Given the description of an element on the screen output the (x, y) to click on. 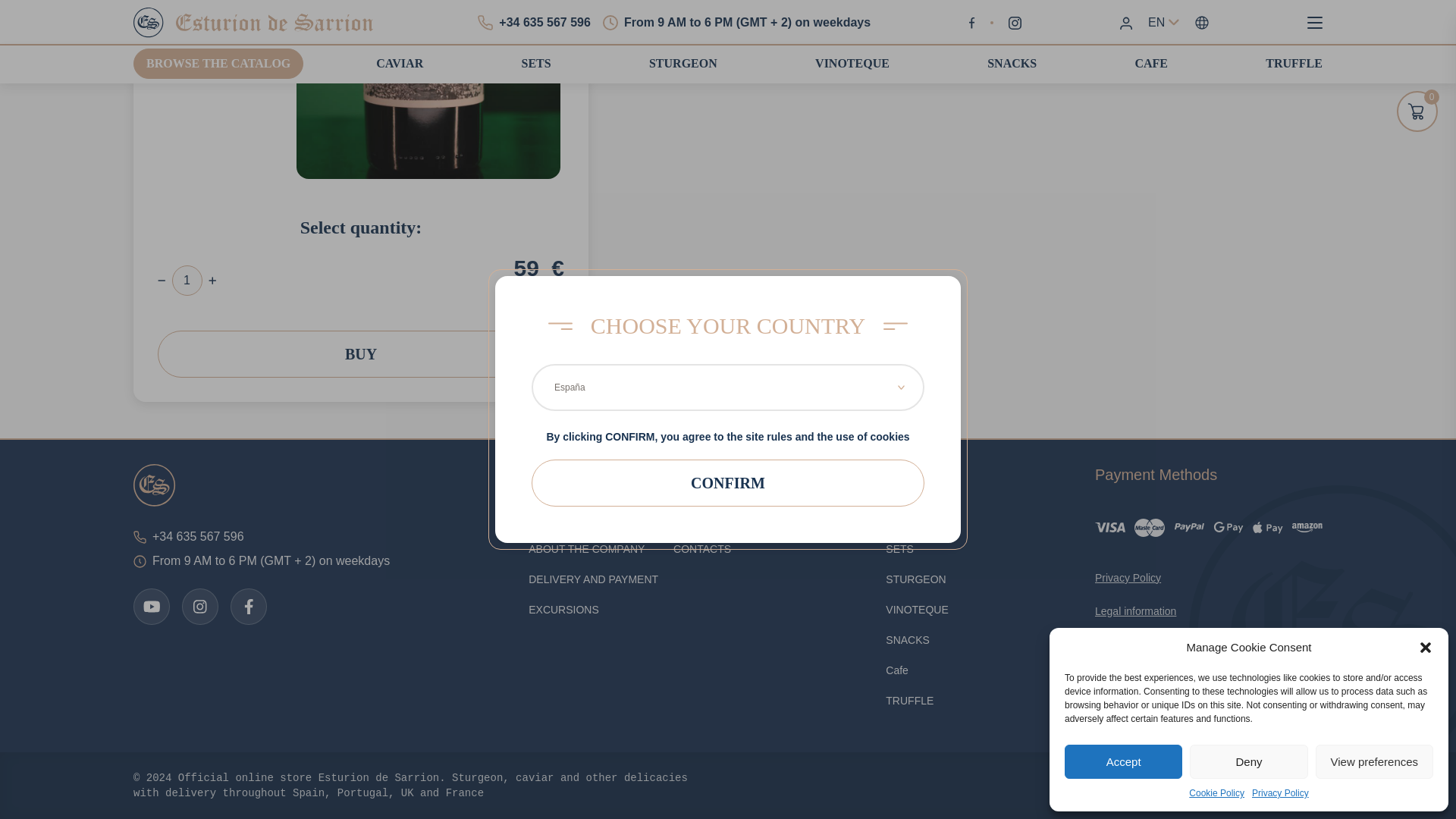
Deny (1248, 302)
1 (186, 280)
Privacy Policy (1280, 334)
Cookie Policy (1216, 334)
View preferences (1374, 302)
Accept (1123, 302)
